Given the description of an element on the screen output the (x, y) to click on. 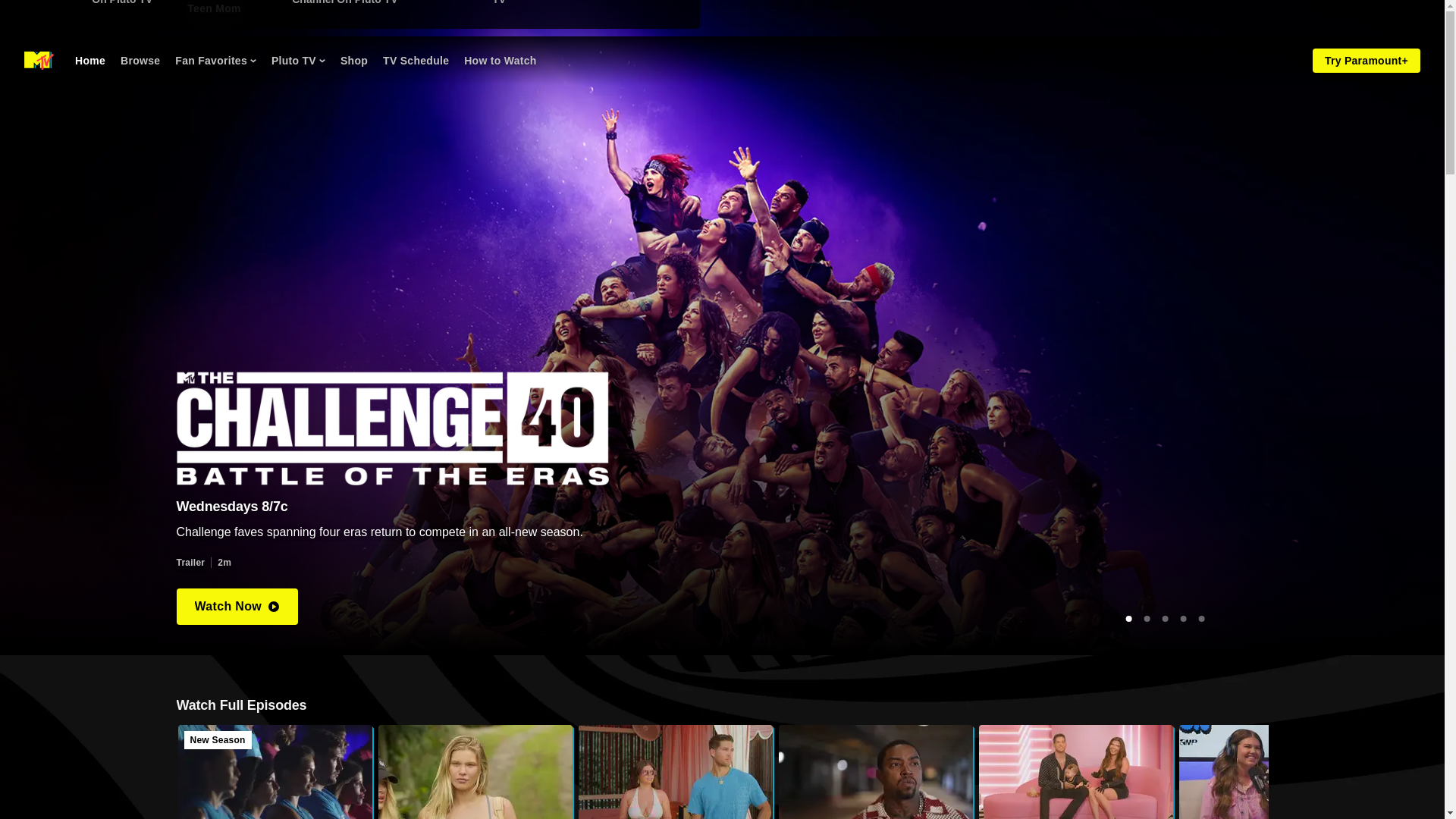
Watch MTV's The Challenge Channel On Pluto TV (382, 6)
Teen Mom (674, 771)
Watch Now (213, 7)
How to Watch (237, 606)
Chevron-icon (499, 60)
false (321, 60)
